Given the description of an element on the screen output the (x, y) to click on. 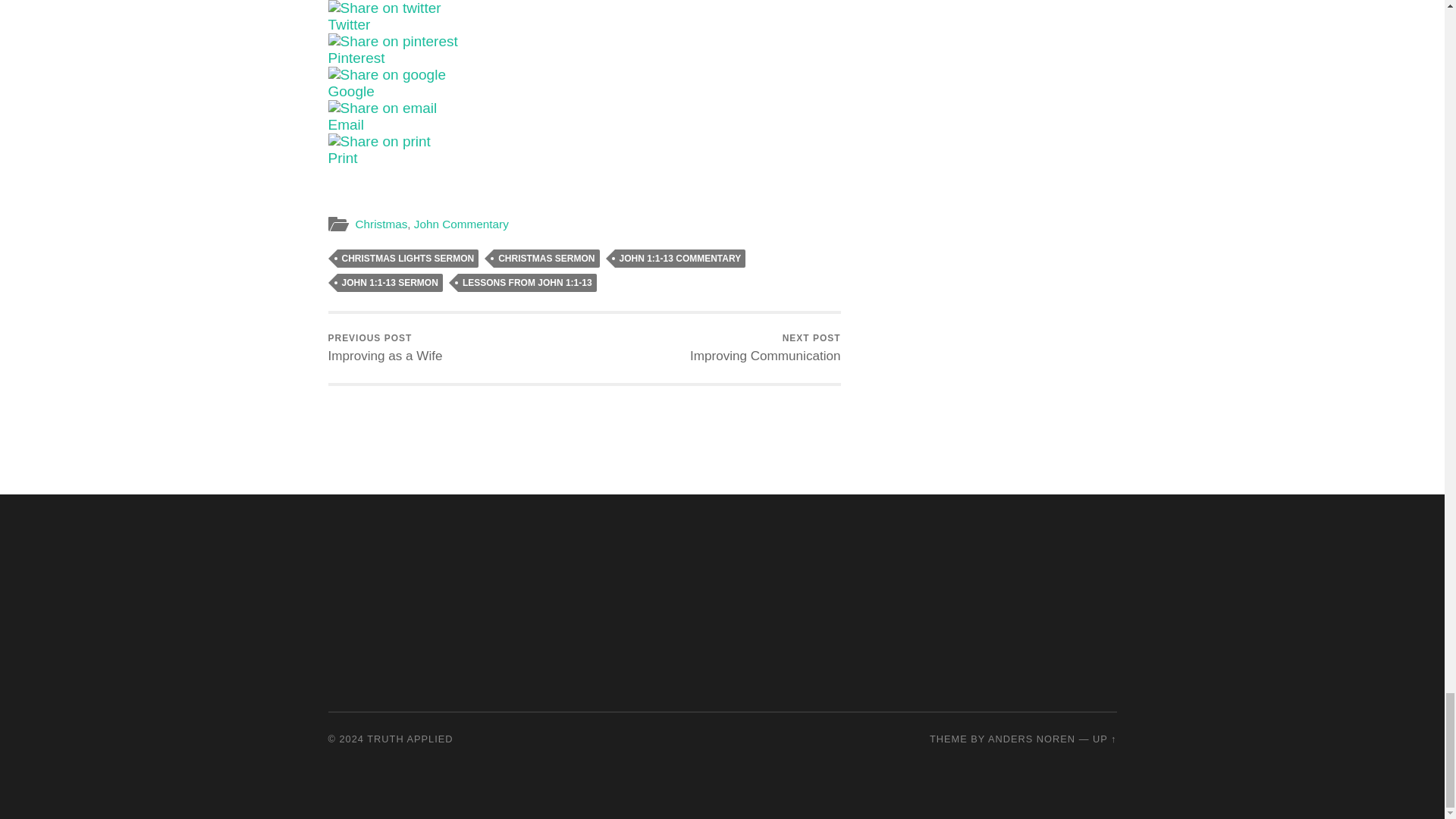
Google (420, 91)
pinterest (392, 41)
google (386, 74)
To the top (1104, 738)
print (378, 141)
Twitter (420, 24)
email (381, 108)
twitter (384, 8)
Email (420, 125)
Pinterest (420, 57)
Print (420, 158)
